Given the description of an element on the screen output the (x, y) to click on. 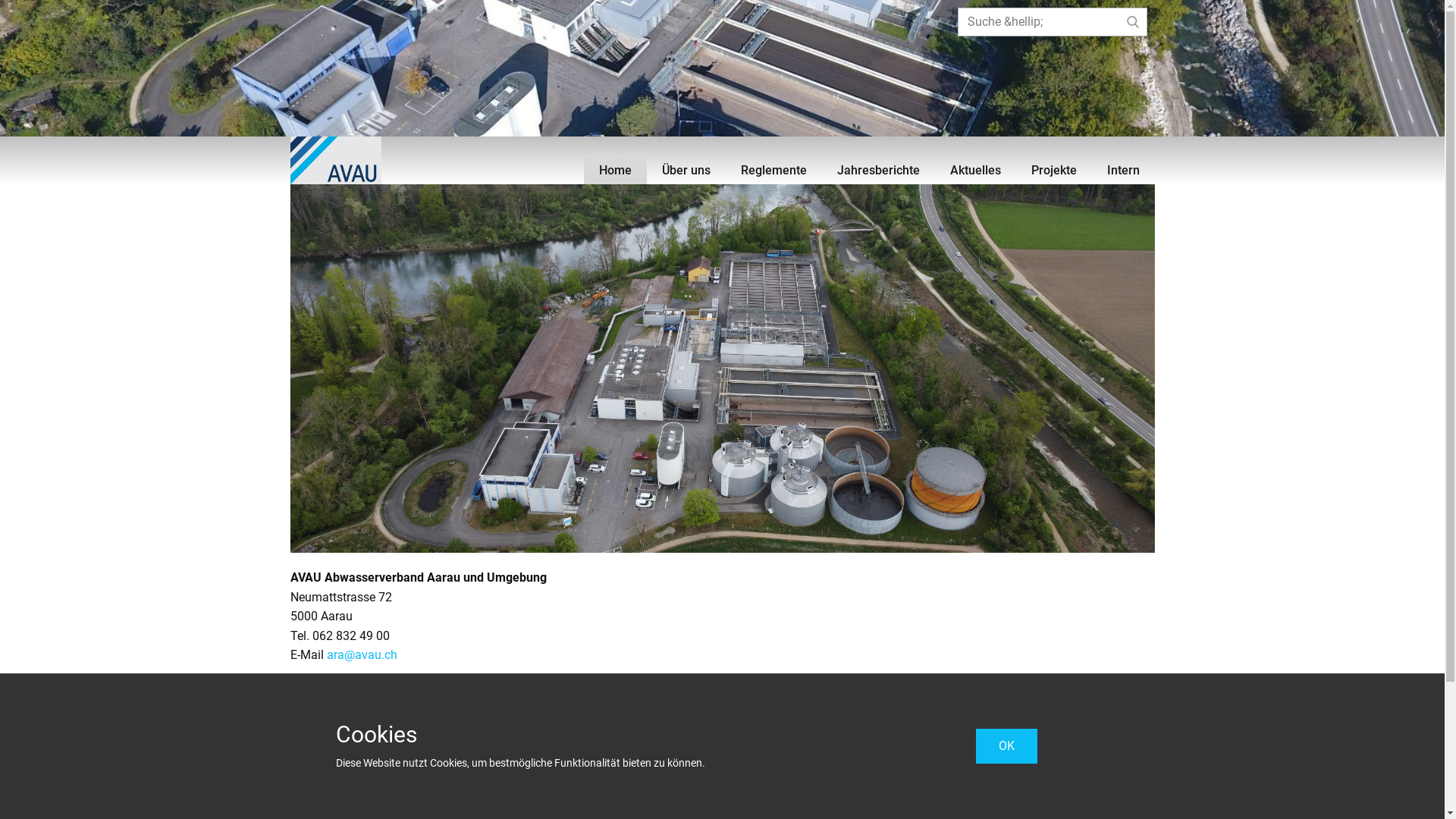
OK Element type: text (1005, 745)
Projekte Element type: text (1054, 170)
ara@avau.ch Element type: text (361, 654)
Jahresberichte Element type: text (878, 170)
Reglemente Element type: text (772, 170)
Aktuelles Element type: text (974, 170)
avau.ch Element type: hover (334, 160)
Home Element type: text (614, 170)
Intern Element type: text (1123, 170)
